Given the description of an element on the screen output the (x, y) to click on. 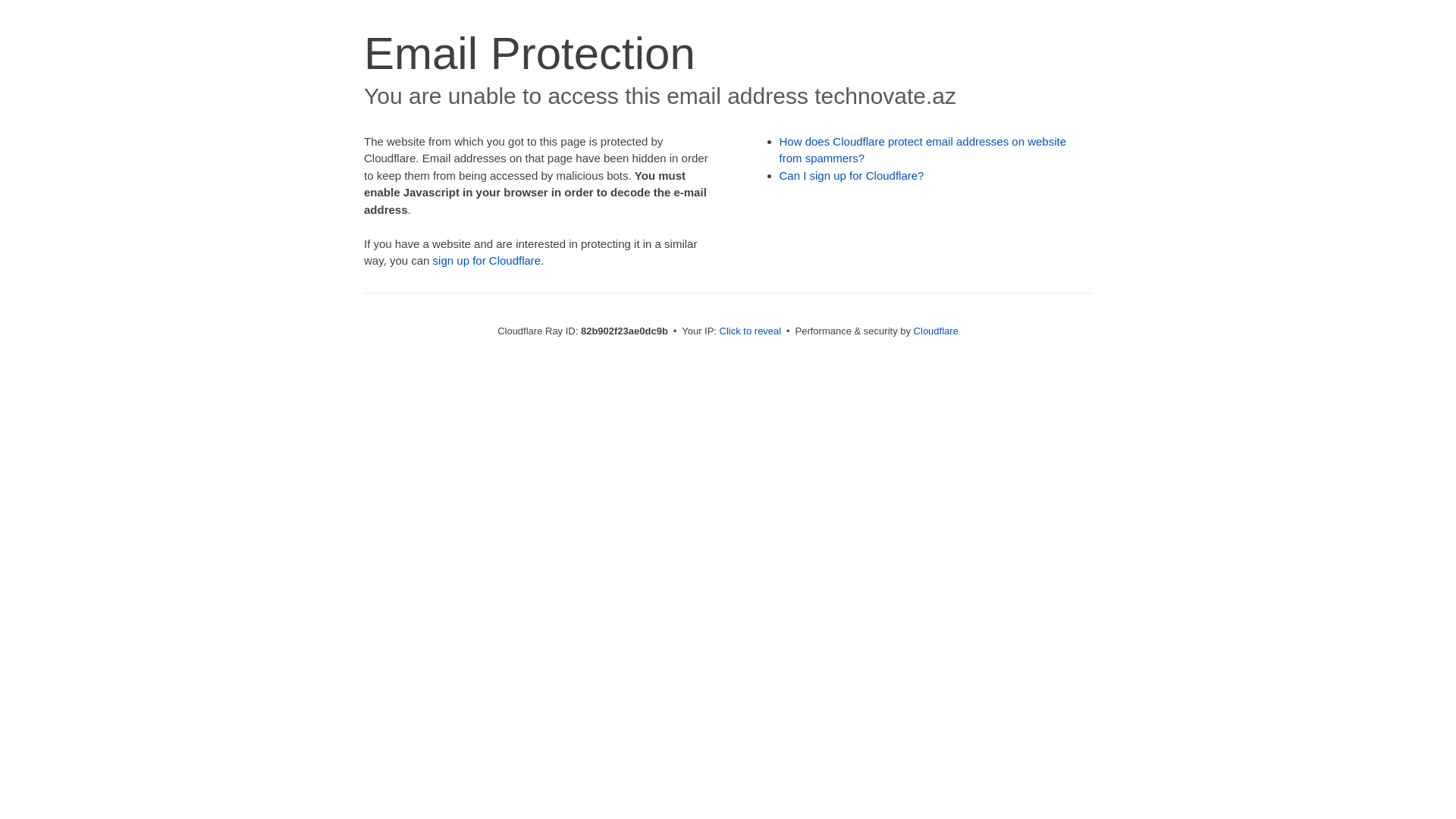
Click to reveal Element type: text (750, 330)
Can I sign up for Cloudflare? Element type: text (851, 175)
Cloudflare Element type: text (935, 330)
sign up for Cloudflare Element type: text (487, 260)
